Given the description of an element on the screen output the (x, y) to click on. 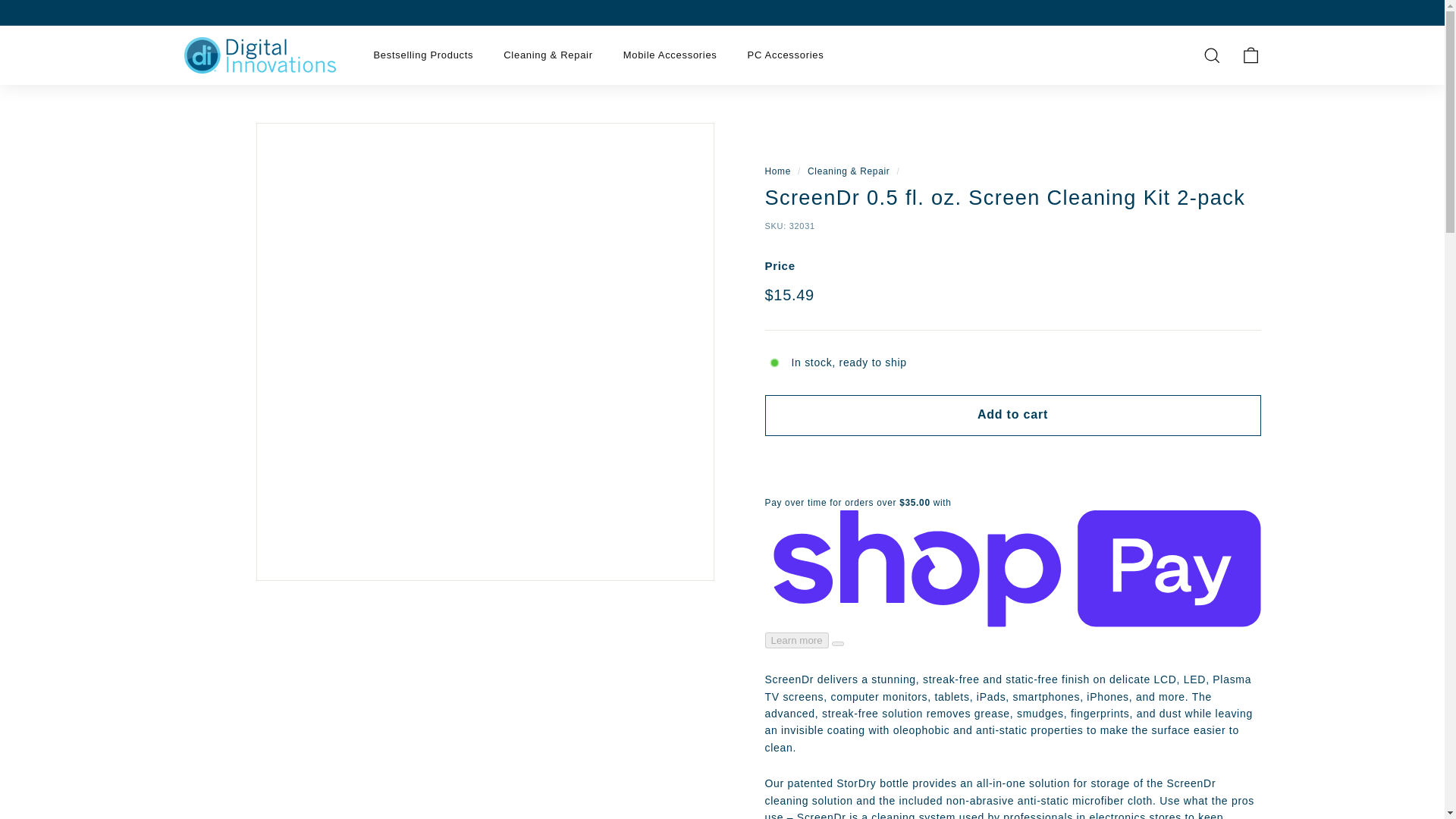
Back to the frontpage (777, 171)
Mobile Accessories (670, 56)
Bestselling Products (422, 56)
PC Accessories (786, 56)
